Given the description of an element on the screen output the (x, y) to click on. 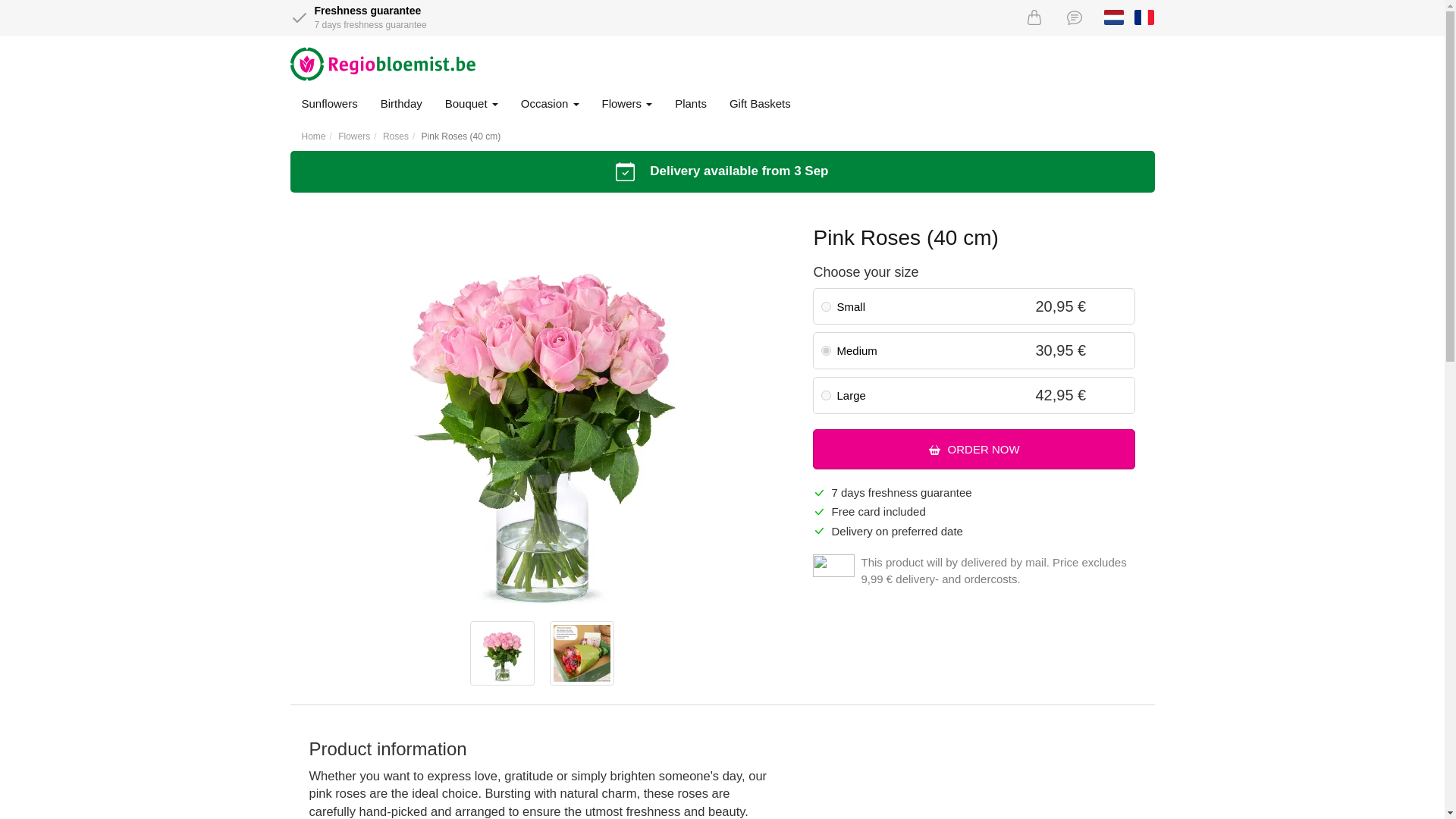
Flowers (353, 136)
Bouquet (471, 103)
Occasion (550, 103)
large (826, 395)
Birthday (401, 103)
Sunflowers (328, 103)
small (826, 307)
Bouquet (471, 103)
Plants (690, 103)
Flowers (626, 103)
